Given the description of an element on the screen output the (x, y) to click on. 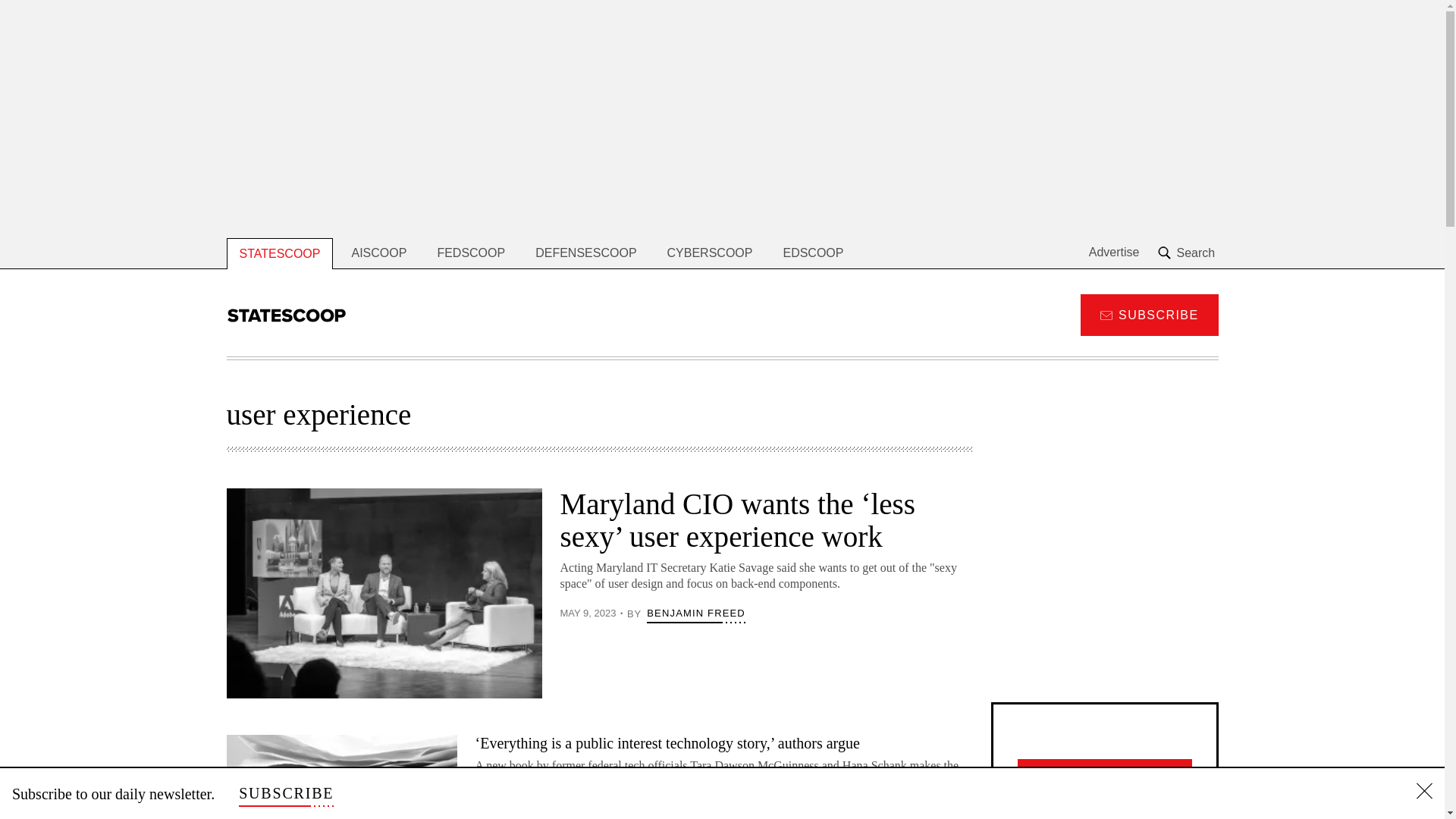
SUBSCRIBE (1148, 314)
3rd party ad content (1103, 583)
FEDSCOOP (470, 253)
Advertise (1114, 252)
Search (1187, 252)
STATESCOOP (279, 253)
DEFENSESCOOP (584, 253)
CYBERSCOOP (710, 253)
EDSCOOP (813, 253)
SUBSCRIBE (285, 793)
AISCOOP (379, 253)
